Given the description of an element on the screen output the (x, y) to click on. 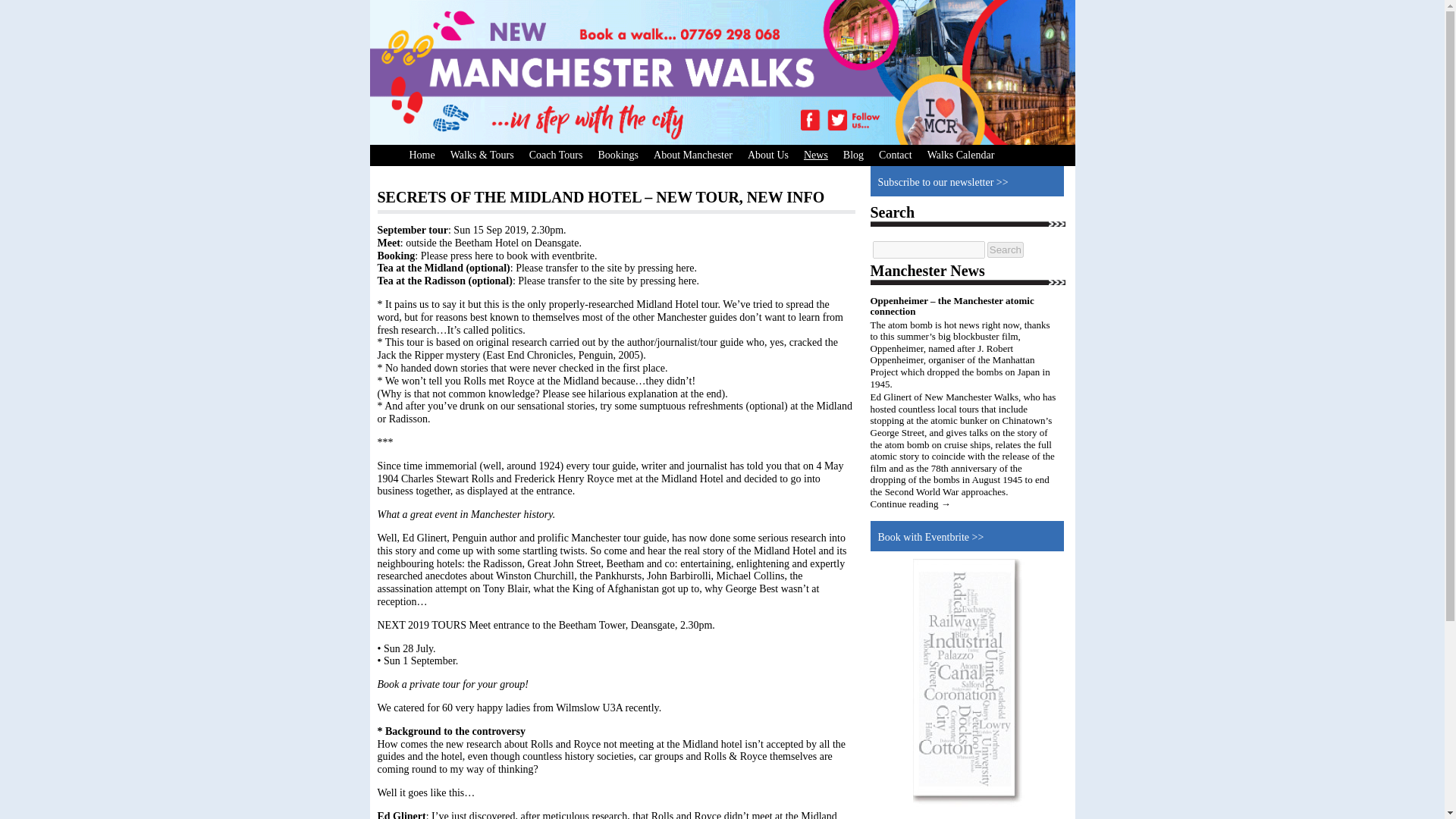
Please transfer to the site by pressing here (606, 280)
Please transfer to the site by pressing here (604, 267)
About Manchester (692, 155)
News (815, 155)
Bookings (617, 155)
Search (1005, 249)
Contact (895, 155)
Please press here to book with eventbrite (507, 255)
Blog (852, 155)
Coach Tours (556, 155)
Search (1005, 249)
Home (421, 155)
About Us (767, 155)
Walks Calendar (961, 155)
